Given the description of an element on the screen output the (x, y) to click on. 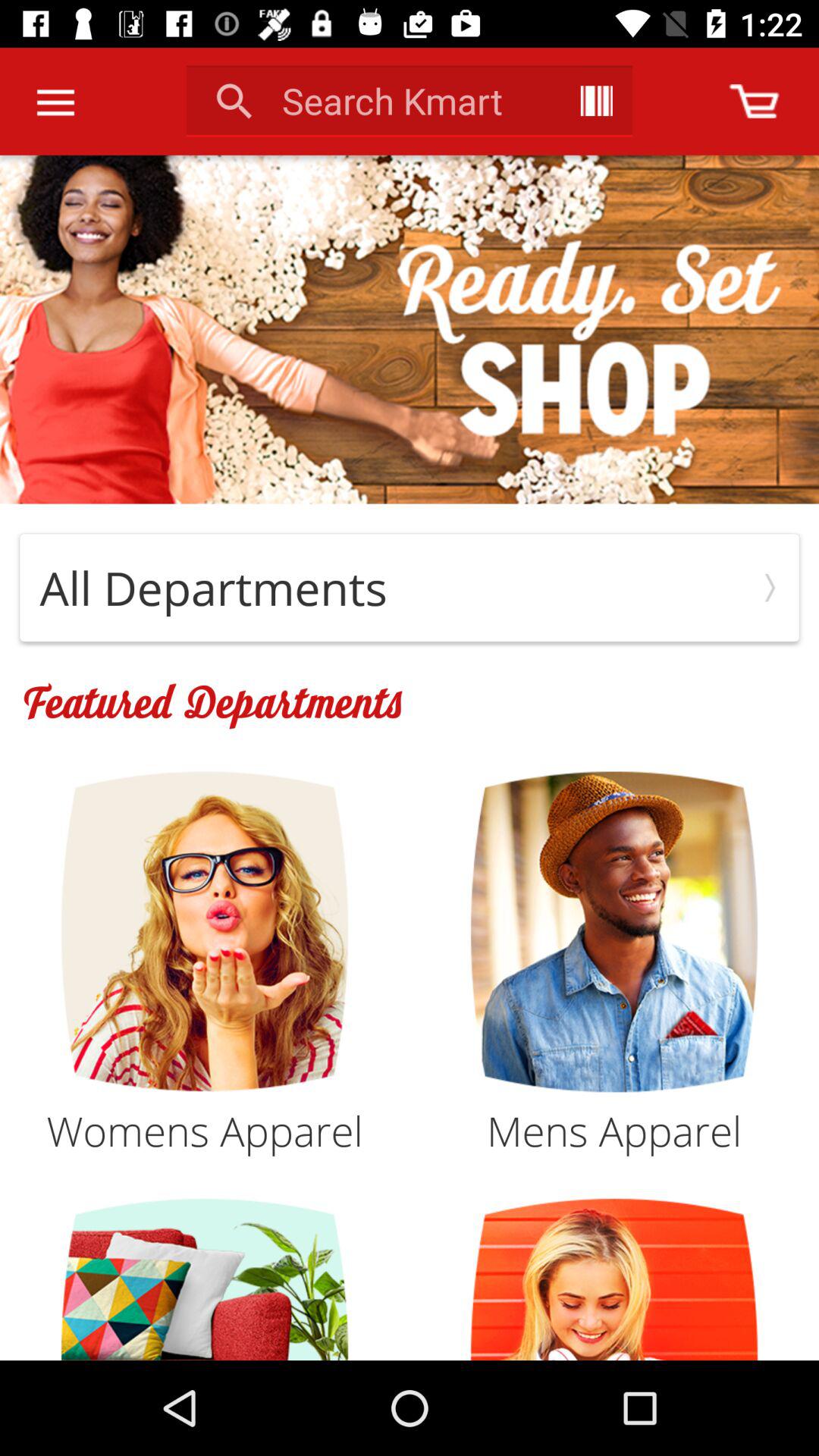
press the app to the right of search kmart (596, 100)
